Given the description of an element on the screen output the (x, y) to click on. 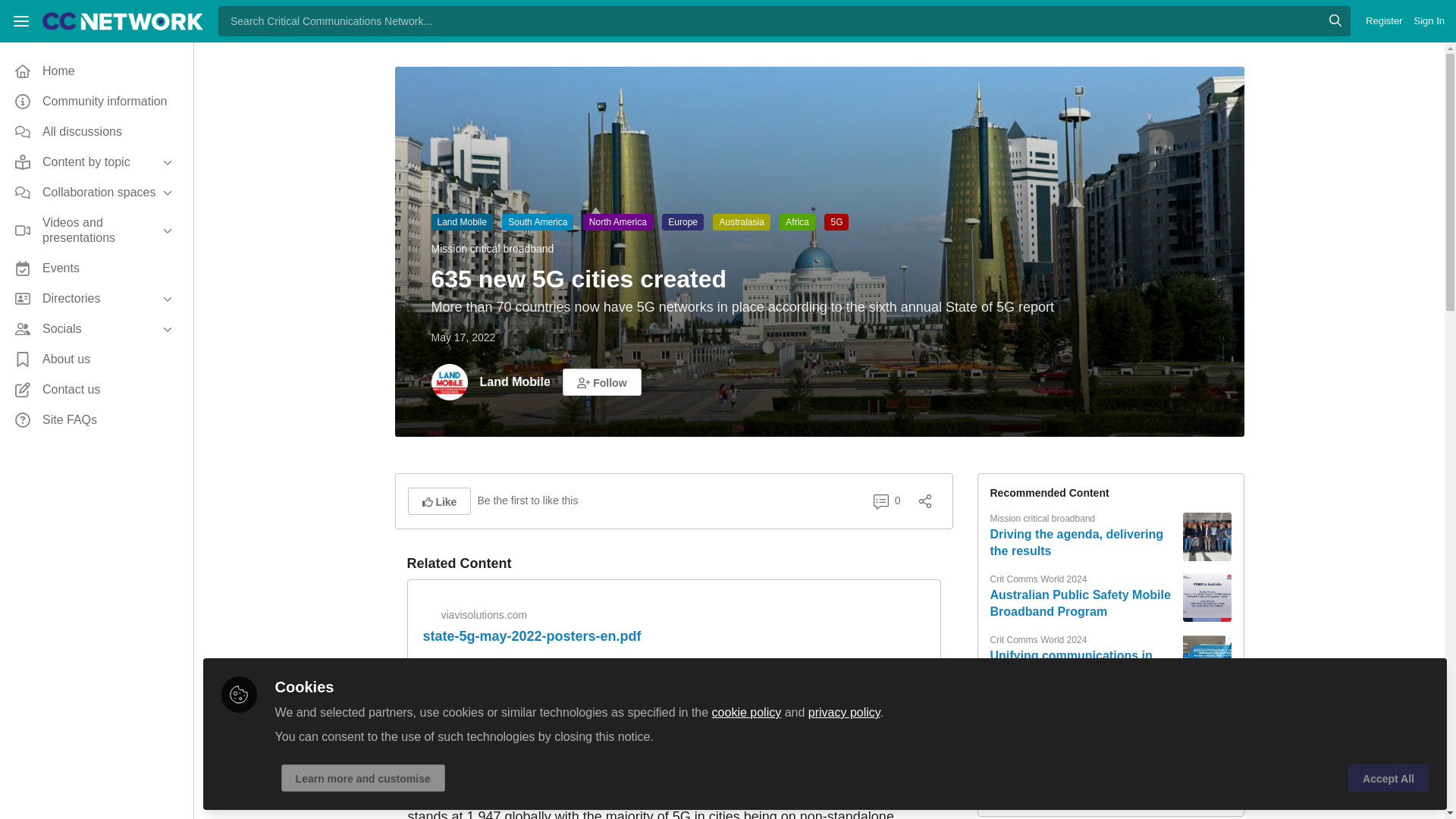
Content by topic (96, 162)
Search (1335, 20)
Community information (96, 101)
Home (96, 71)
About us (96, 359)
Videos and presentations (96, 230)
Site FAQs (96, 420)
Menu (21, 21)
All discussions (96, 131)
Collaboration spaces (96, 192)
